Given the description of an element on the screen output the (x, y) to click on. 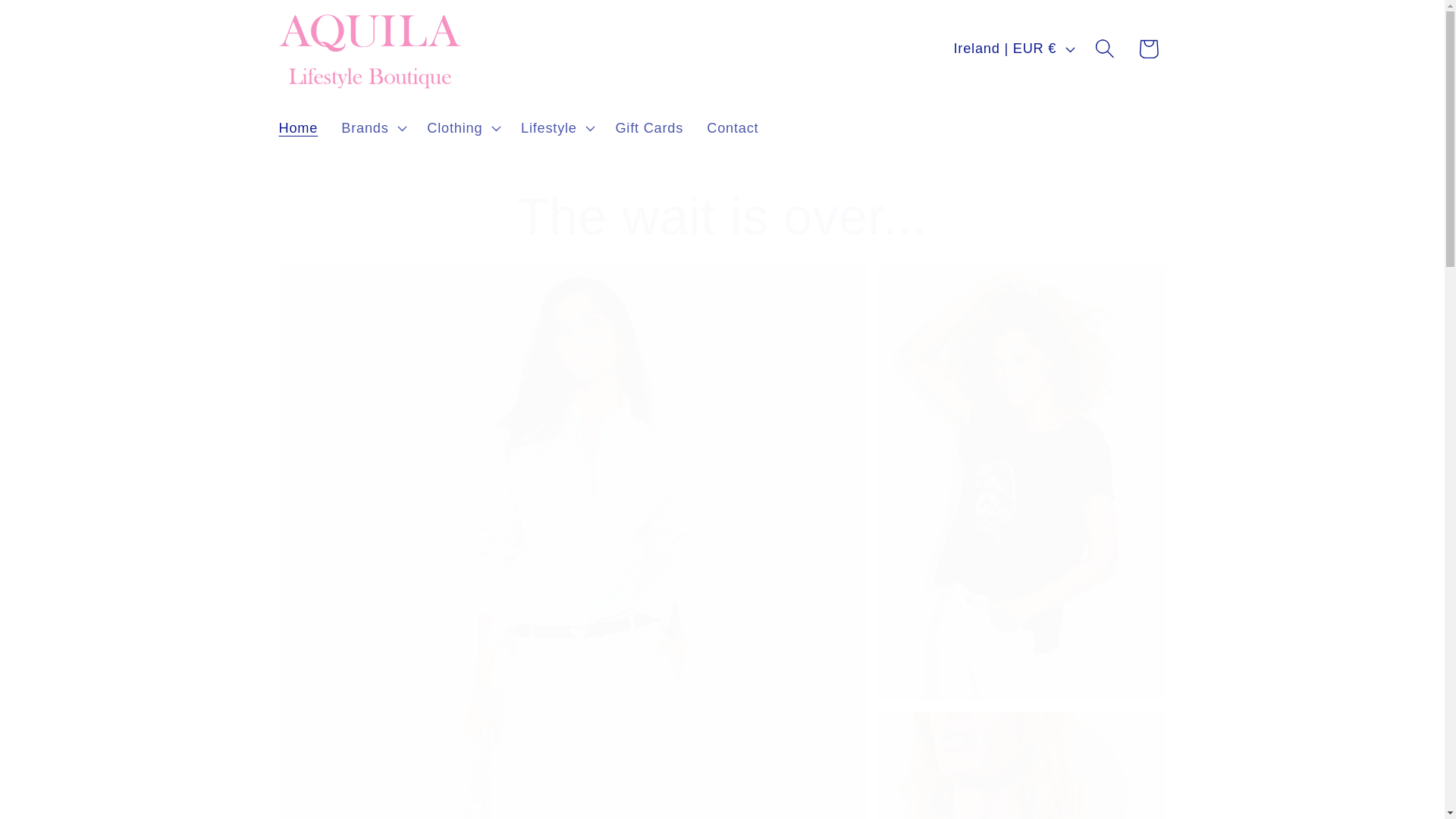
Skip to content (59, 22)
Home (298, 127)
The wait is over... (721, 216)
